Given the description of an element on the screen output the (x, y) to click on. 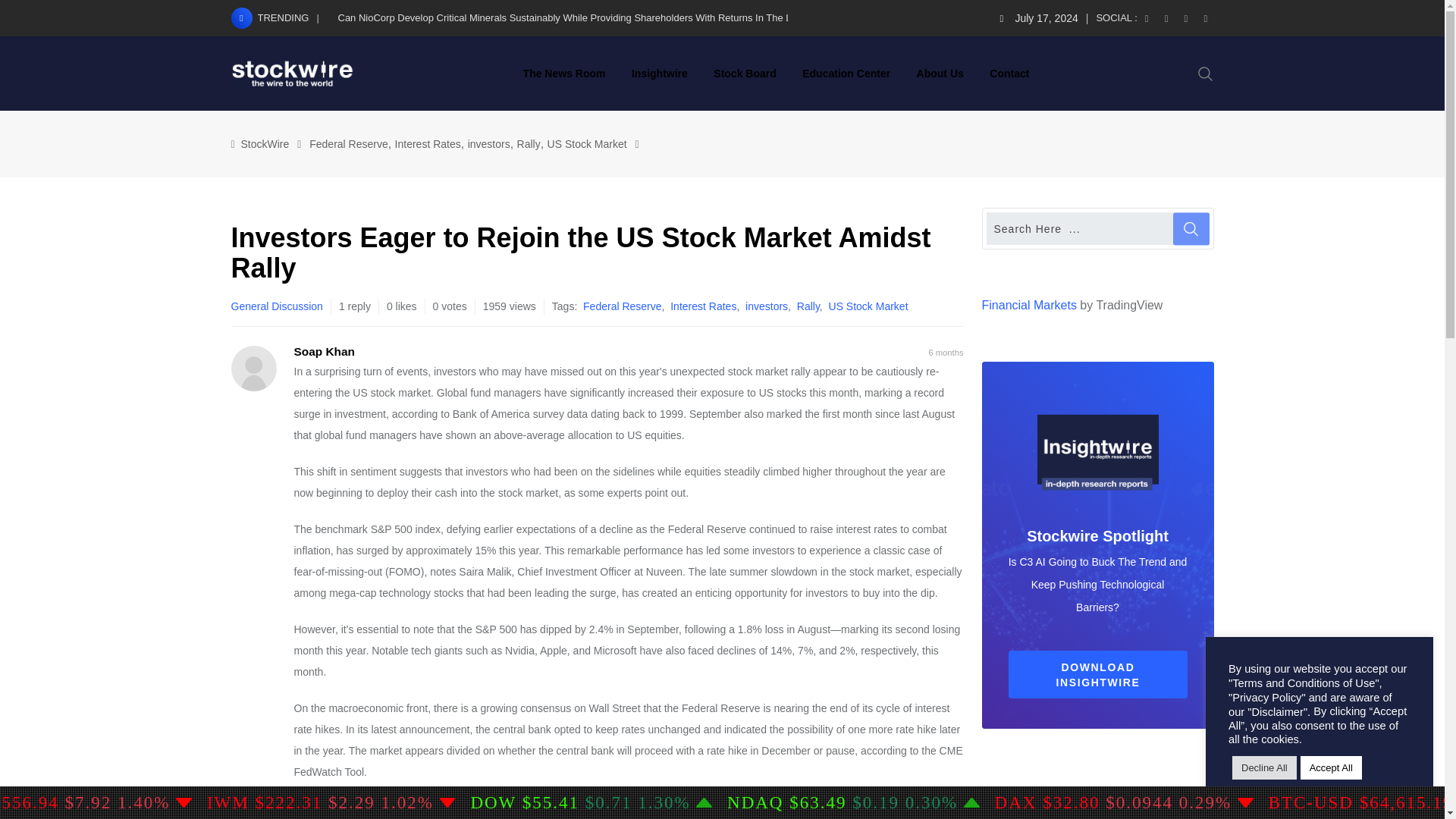
Soap Khan (324, 351)
Go to the investors Topic Tag archives. (489, 143)
Go to the Rally Topic Tag archives. (528, 143)
Go to the Interest Rates Topic Tag archives. (427, 143)
Go to StockWire. (265, 143)
Go to the US Stock Market Topic Tag archives. (587, 143)
Education Center (845, 73)
Soap Khan Profile (324, 351)
Interest Rates (702, 306)
General Discussion (280, 306)
Search (1205, 72)
Rally (807, 306)
Federal Reserve (622, 306)
investors (489, 143)
The News Room (564, 73)
